Given the description of an element on the screen output the (x, y) to click on. 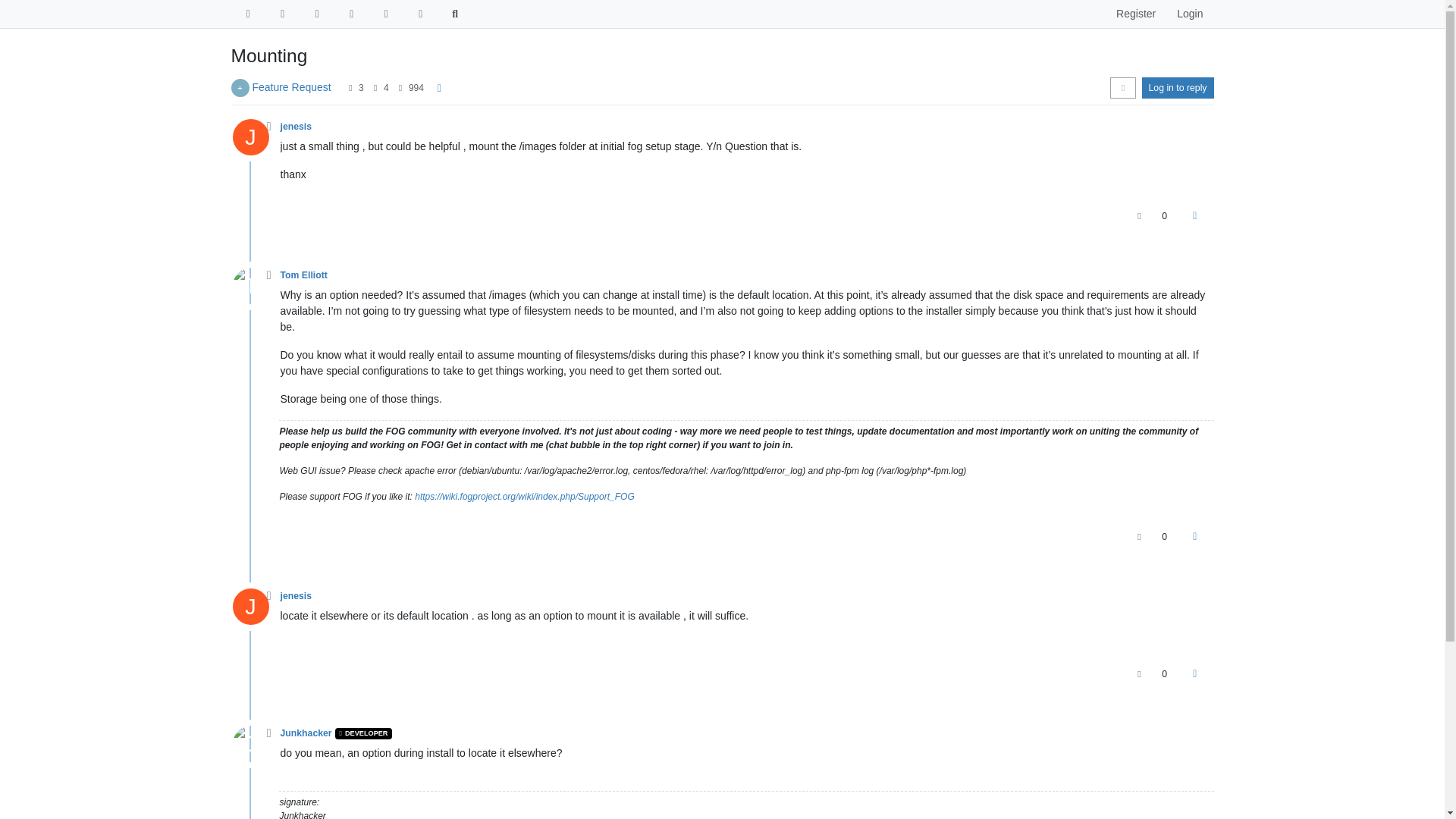
jenesis (297, 126)
Tags (316, 13)
Log in to reply (1177, 87)
Users (385, 13)
Login (1189, 13)
Recent (247, 13)
J (255, 141)
Posters (350, 87)
Search (455, 13)
Popular (351, 13)
